Given the description of an element on the screen output the (x, y) to click on. 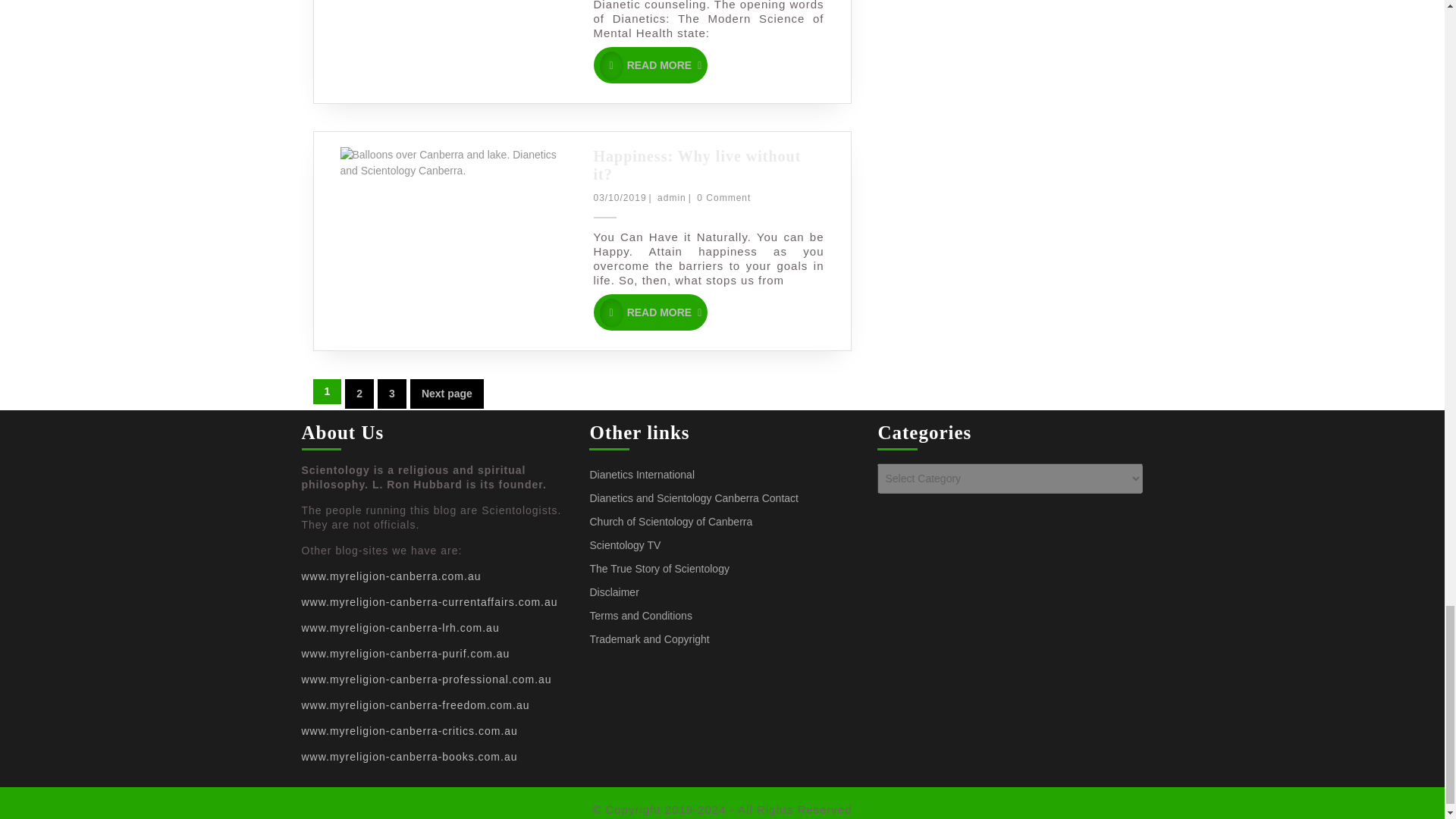
Next page (359, 393)
www.myreligion-canberra-currentaffairs.com.au (391, 393)
www.myreligion-canberra.com.au (446, 393)
